Given the description of an element on the screen output the (x, y) to click on. 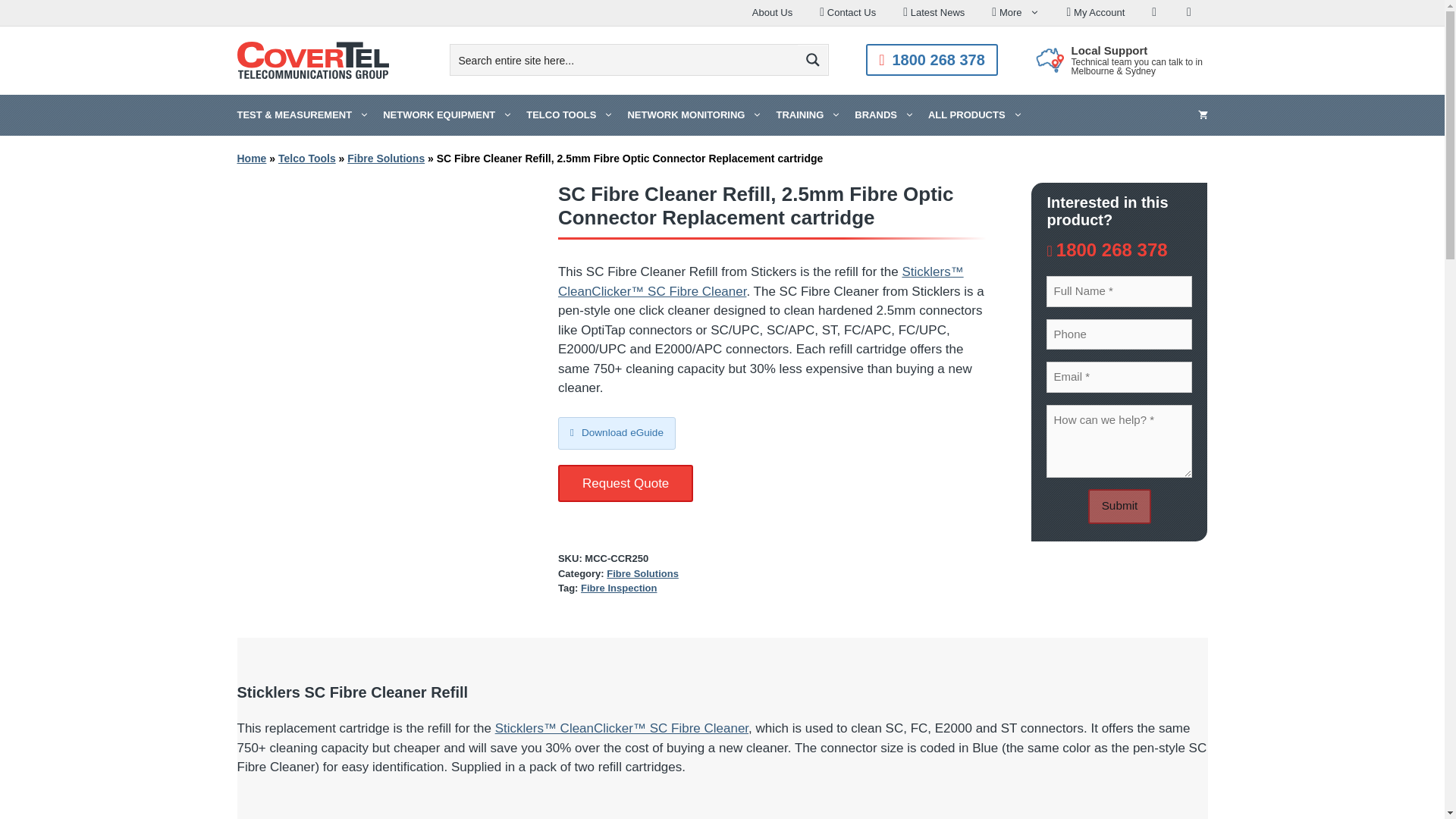
Network Equipment and Infrastructure (447, 115)
Submit (1118, 506)
CoverTel Training (807, 115)
Telco Tools (569, 115)
Network Monitoring (694, 115)
Contact Us (847, 12)
1800 268 378 (931, 60)
LinkedIn (1155, 12)
More (1015, 12)
Latest News (933, 12)
CoverTel Partners (884, 115)
Vimeo (1190, 12)
About Us (772, 12)
My Account (1095, 12)
